Given the description of an element on the screen output the (x, y) to click on. 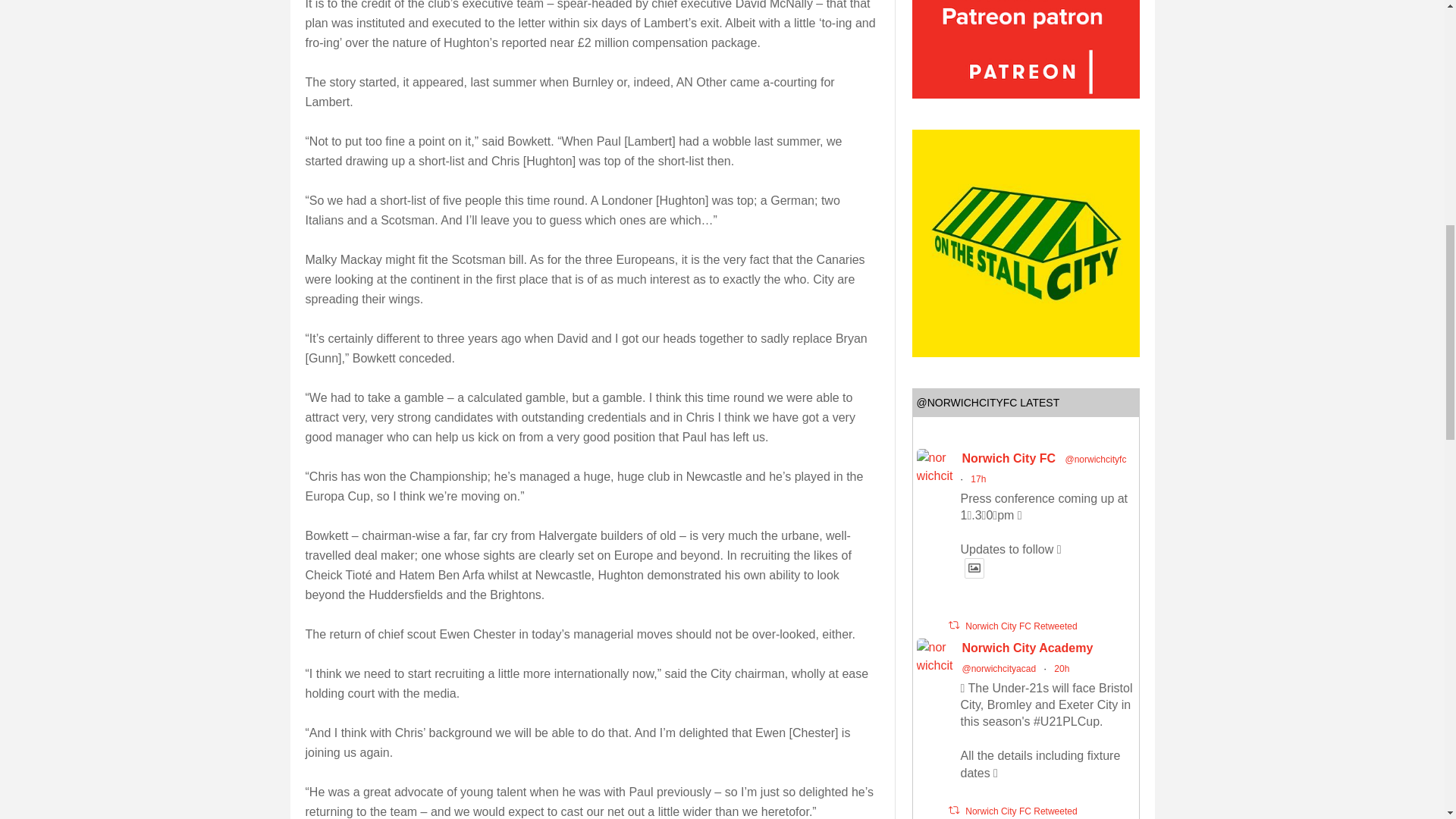
Retweet on Twitter (952, 624)
17h (978, 479)
Norwich City FC (1007, 458)
